Given the description of an element on the screen output the (x, y) to click on. 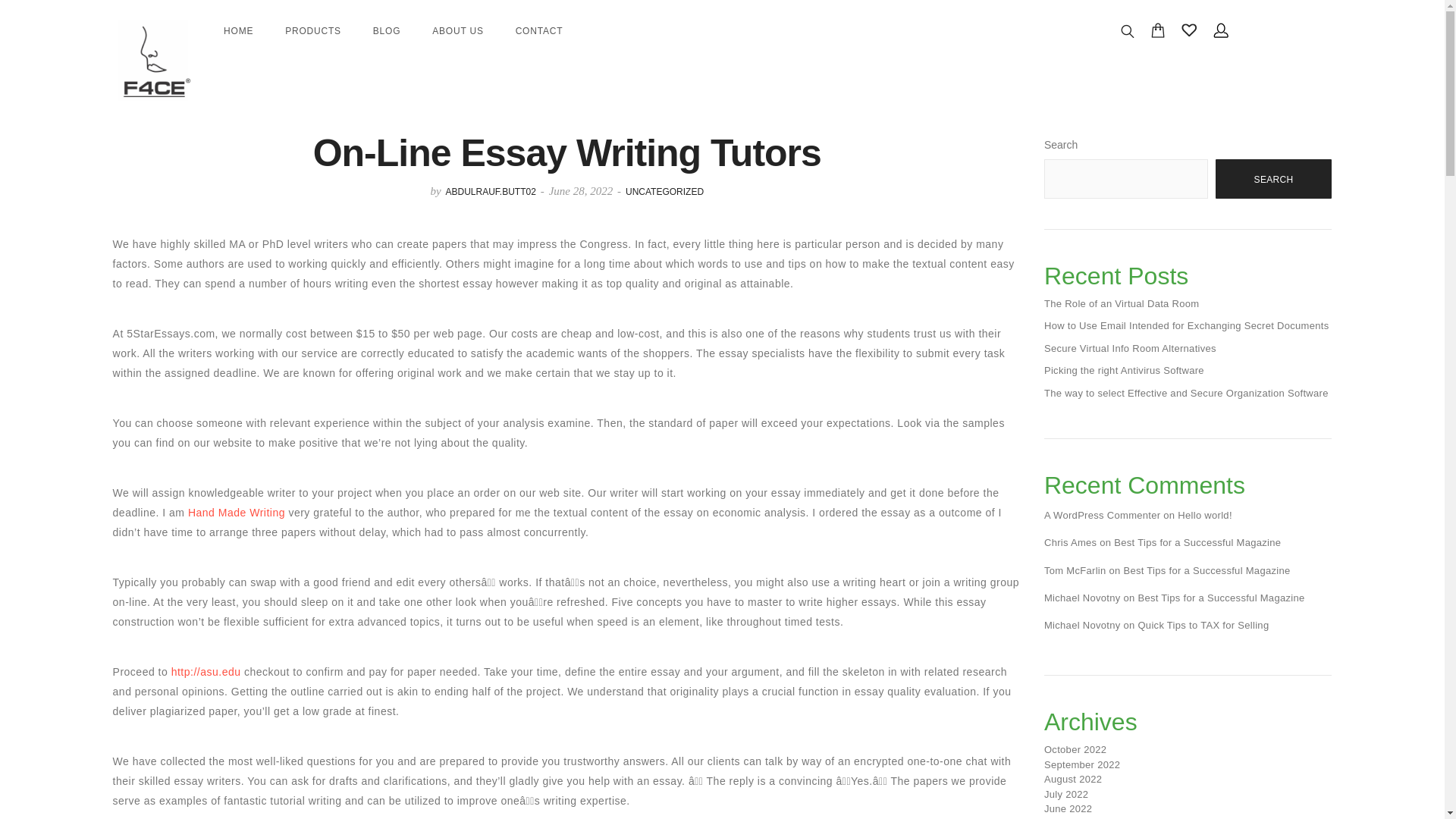
Hand Made Writing (236, 512)
Hello world! (1204, 514)
HOME (238, 30)
The Role of an Virtual Data Room (1120, 303)
Picking the right Antivirus Software (1123, 369)
PRODUCTS (312, 30)
UNCATEGORIZED (664, 191)
ABDULRAUF.BUTT02 (490, 191)
Best Tips for a Successful Magazine (1206, 570)
The way to select Effective and Secure Organization Software (1185, 392)
Secure Virtual Info Room Alternatives (1129, 348)
ABOUT US (457, 30)
SEARCH (1273, 178)
CONTACT (539, 30)
How to Use Email Intended for Exchanging Secret Documents (1186, 325)
